Given the description of an element on the screen output the (x, y) to click on. 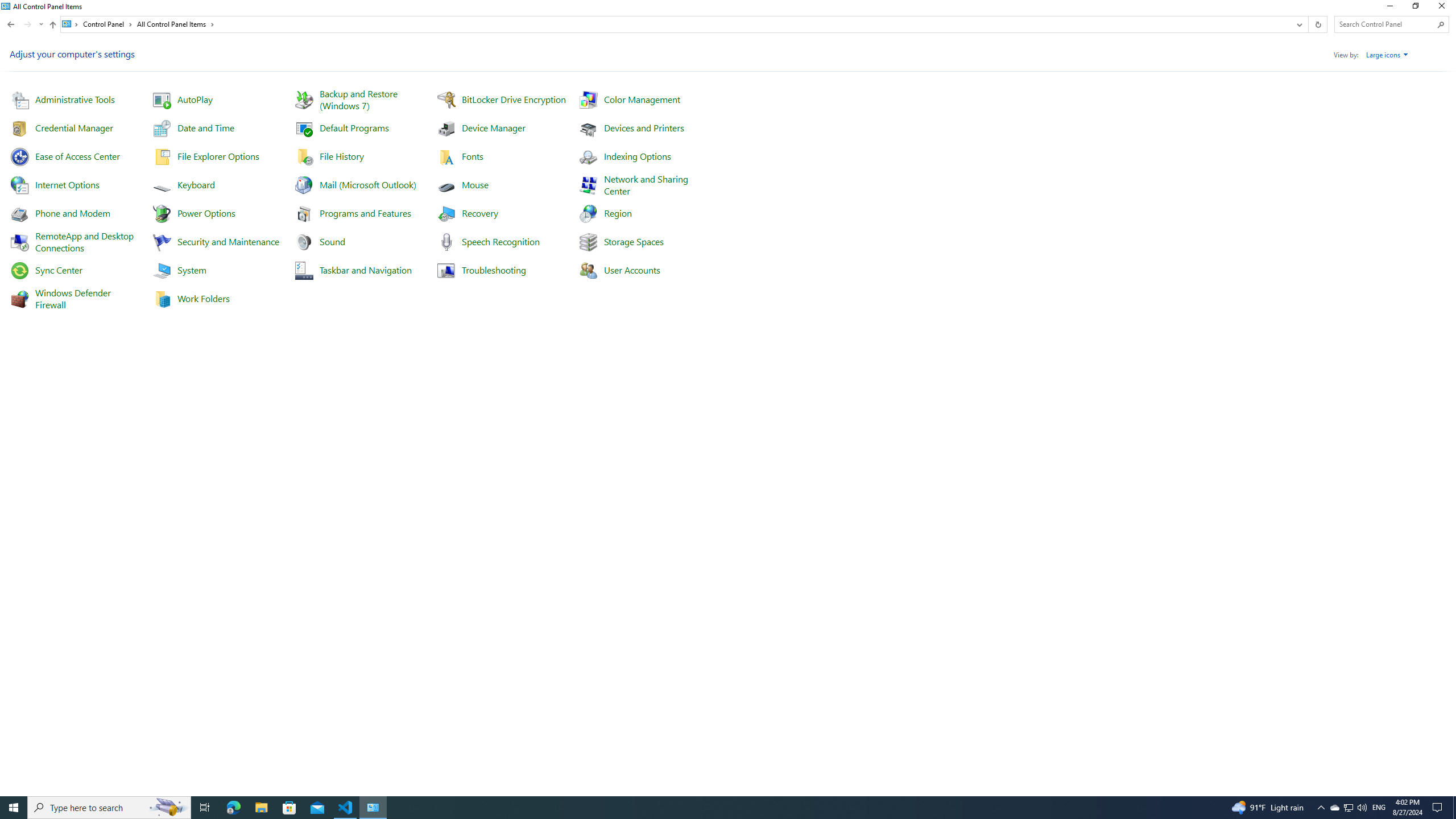
Recovery (479, 212)
Previous Locations (1298, 23)
Programs and Features (365, 212)
Address band toolbar (1308, 23)
